Given the description of an element on the screen output the (x, y) to click on. 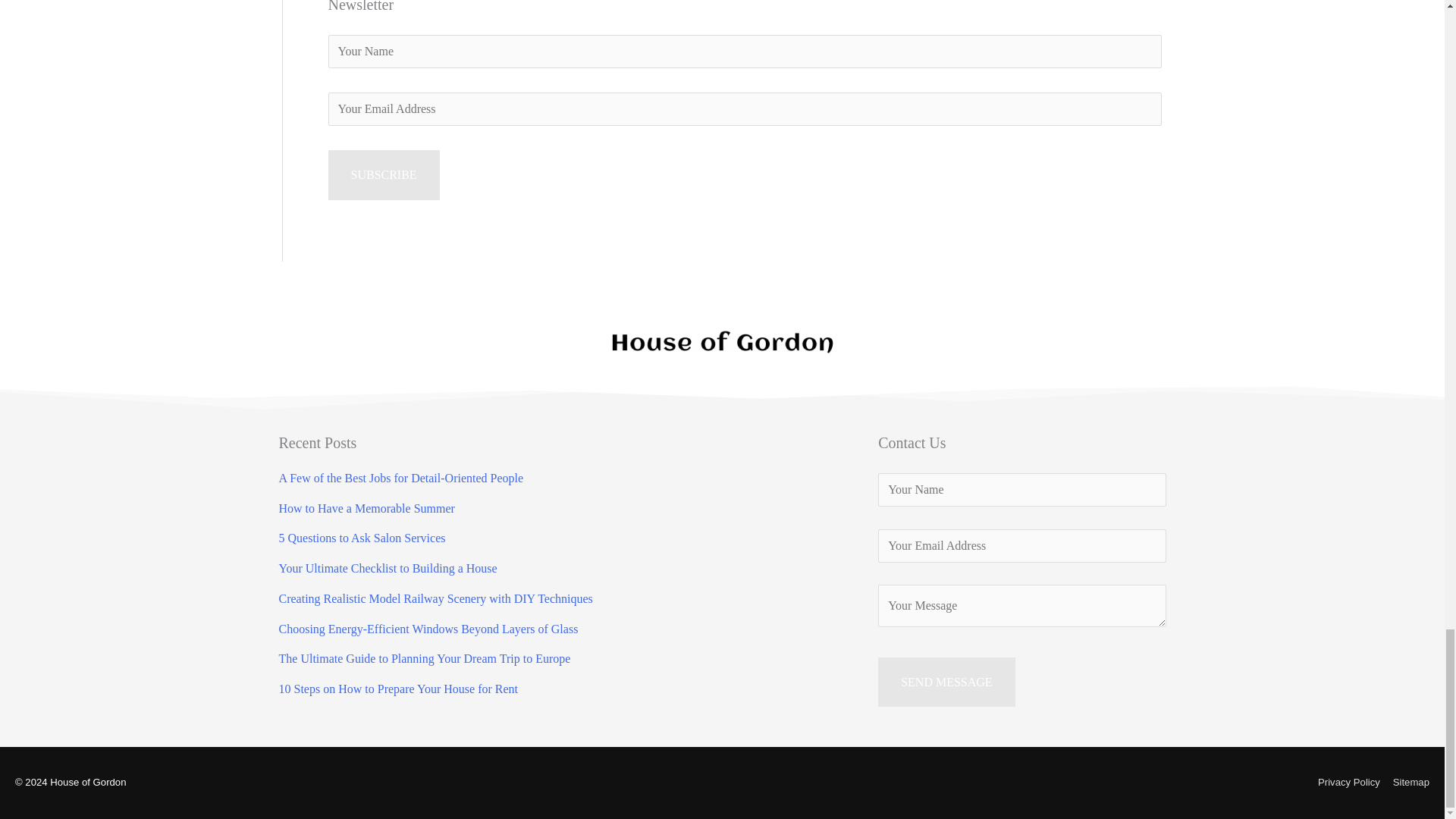
SUBSCRIBE (383, 174)
SEND MESSAGE (945, 682)
